Given the description of an element on the screen output the (x, y) to click on. 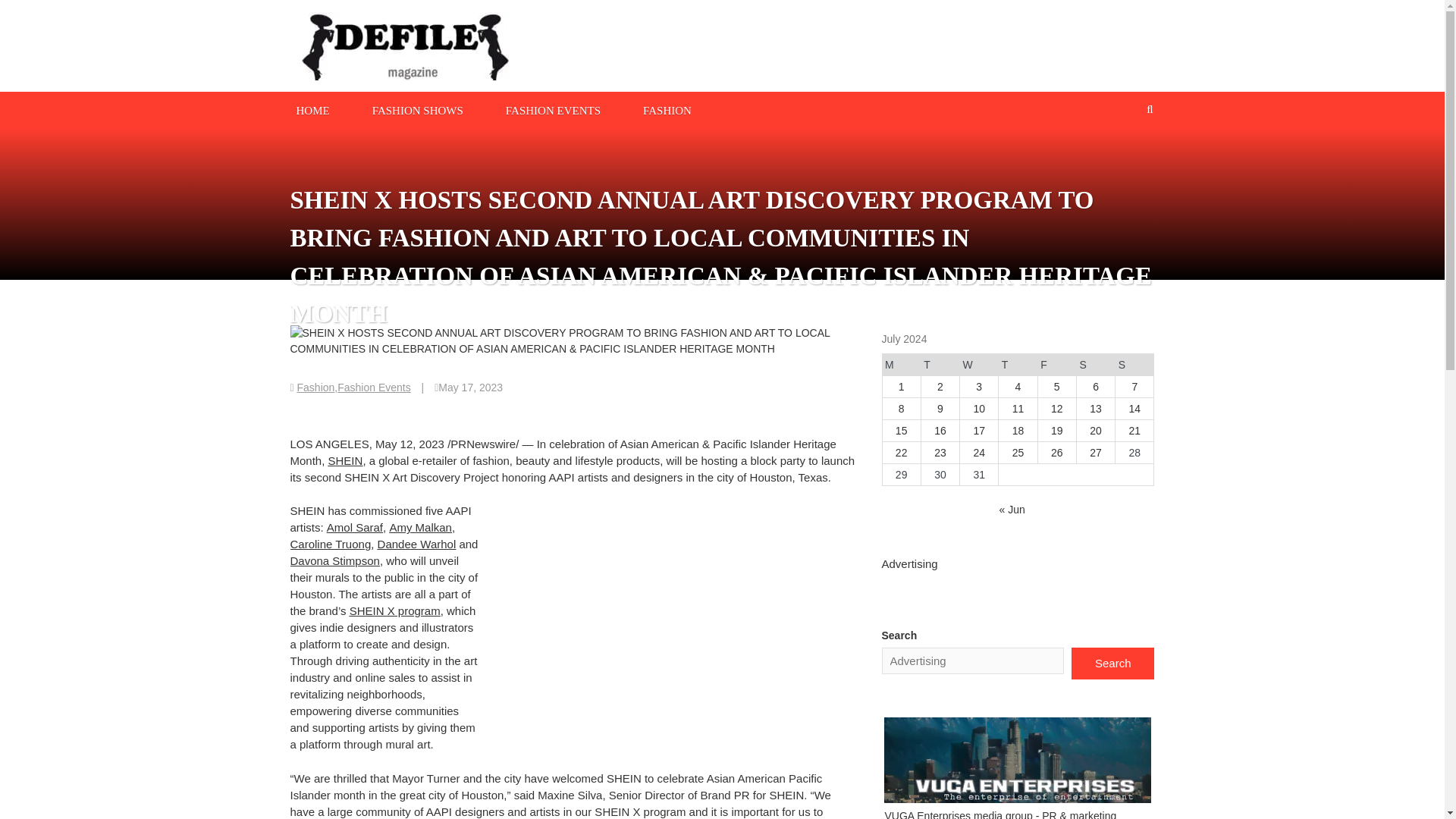
2 (940, 386)
Dandee Warhol (417, 543)
7 (1134, 386)
8 (901, 408)
Saturday (1095, 364)
Thursday (1017, 364)
1 (901, 386)
Monday (901, 364)
Friday (1055, 364)
9 (940, 408)
Amy Malkan (419, 526)
SHEIN X program (395, 610)
Wednesday (978, 364)
FASHION EVENTS (553, 109)
Davona Stimpson (333, 560)
